Given the description of an element on the screen output the (x, y) to click on. 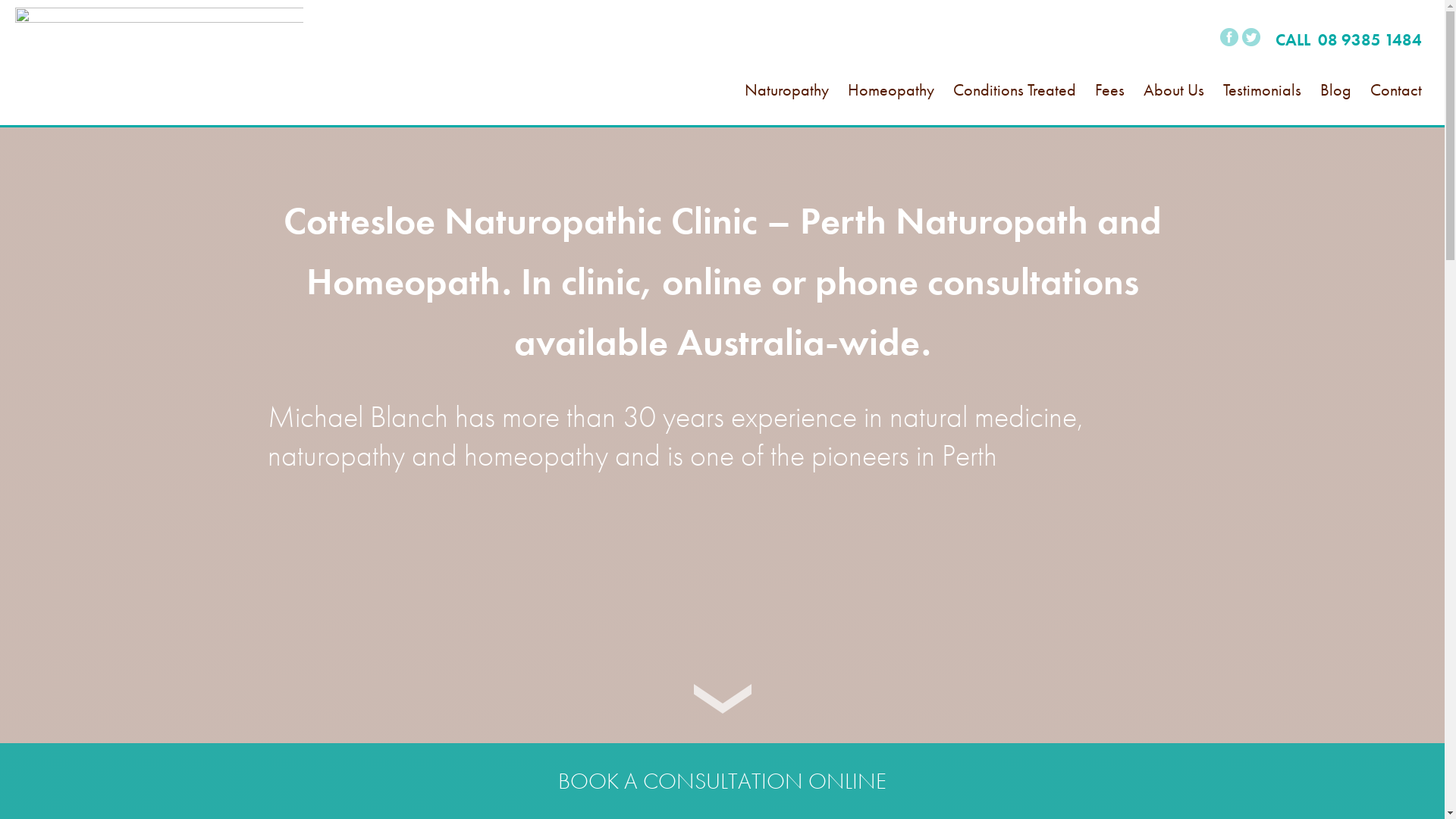
Homeopathy Element type: text (890, 106)
Conditions Treated Element type: text (1014, 106)
Testimonials Element type: text (1262, 106)
Naturopathy Element type: text (786, 106)
Contact Element type: text (1395, 106)
Fees Element type: text (1109, 106)
BOOK A CONSULTATION ONLINE Element type: text (722, 780)
About Us Element type: text (1173, 106)
Blog Element type: text (1335, 106)
08 9385 1484 Element type: text (1369, 39)
